Given the description of an element on the screen output the (x, y) to click on. 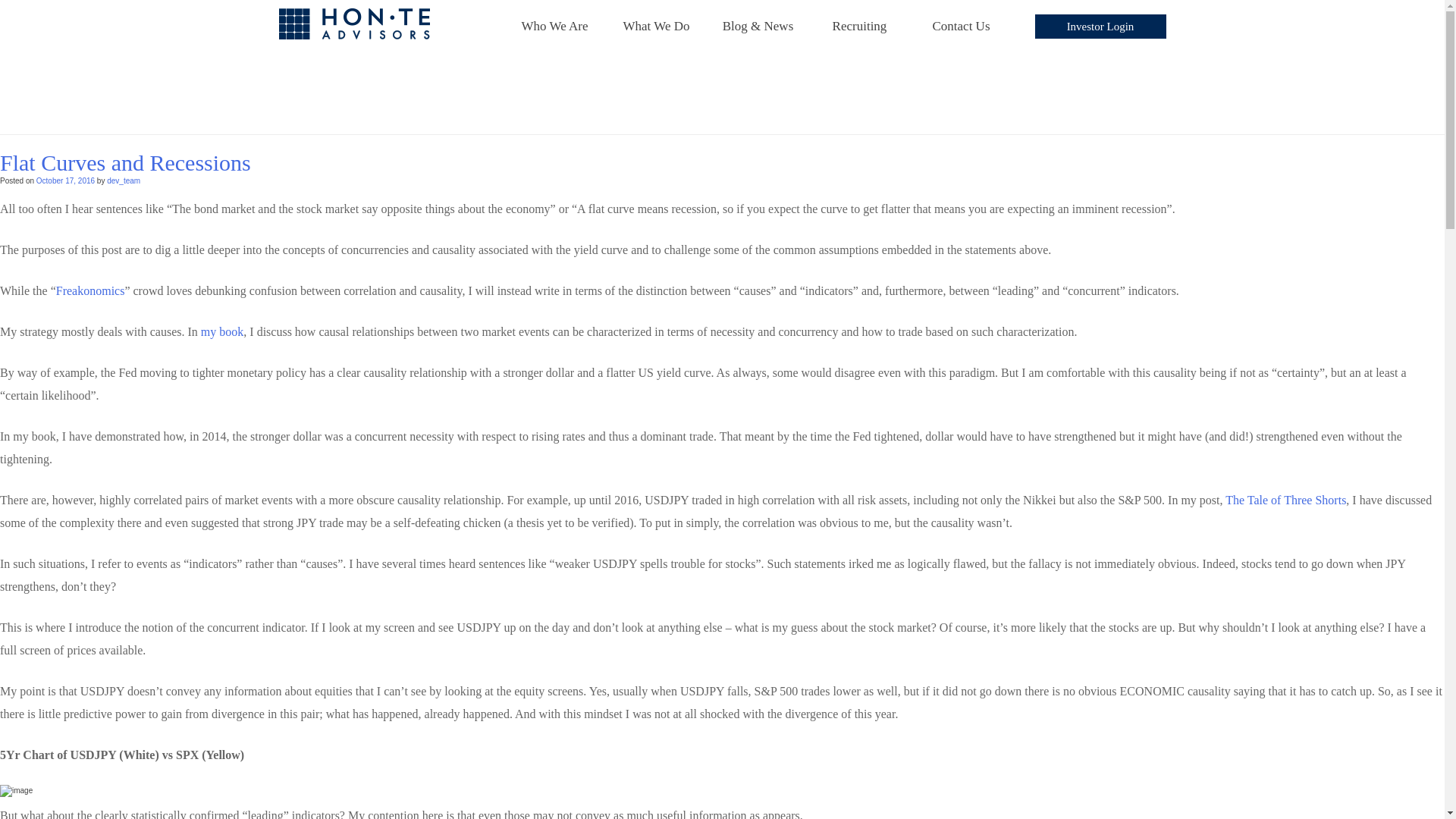
my book (221, 331)
Who We Are (554, 27)
Freakonomics (90, 290)
October 17, 2016 (65, 180)
Recruiting (859, 27)
Flat Curves and Recessions (125, 162)
What We Do (656, 27)
The Tale of Three Shorts (1285, 499)
Contact Us (961, 27)
Investor Login (1099, 26)
